Given the description of an element on the screen output the (x, y) to click on. 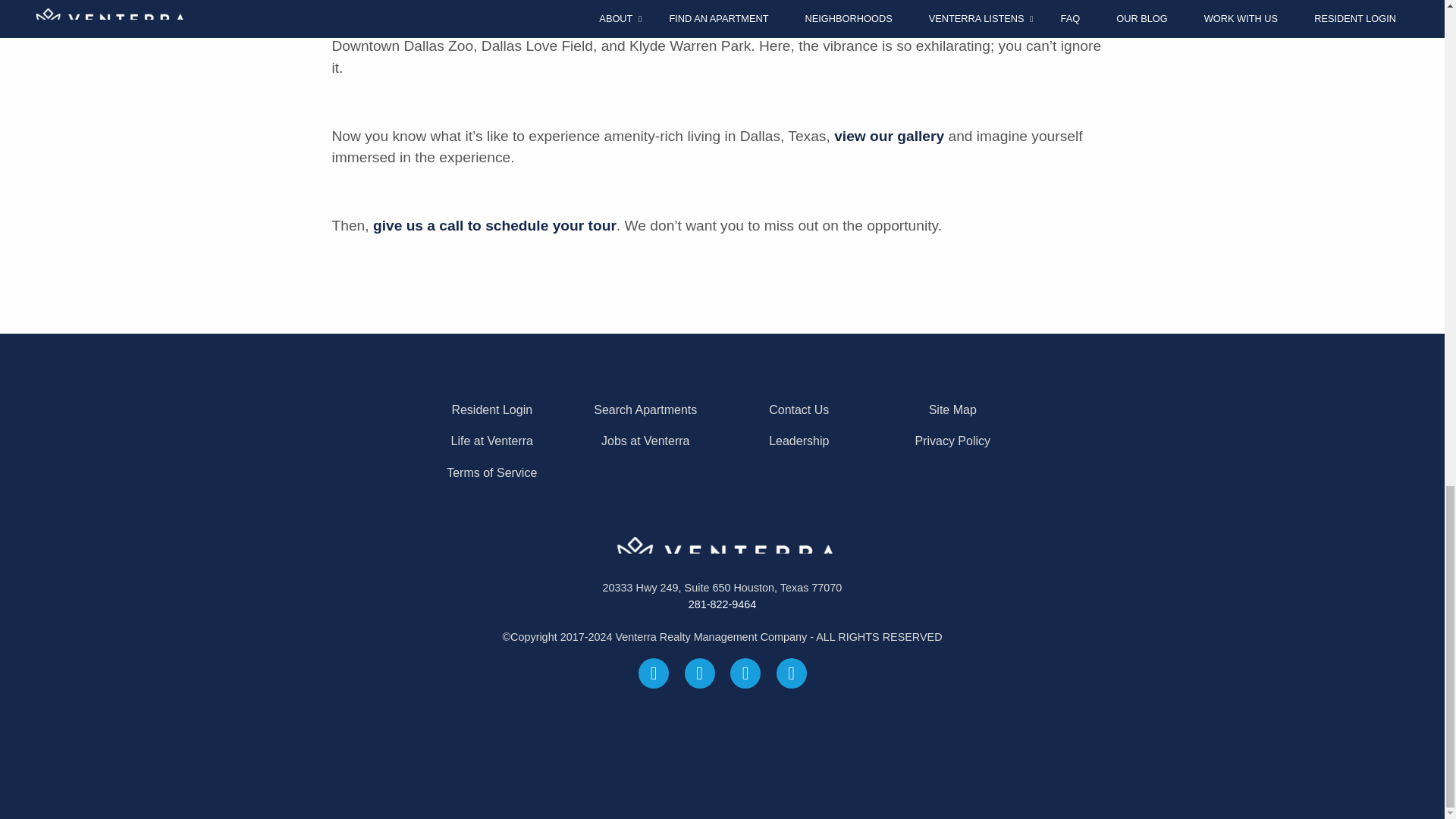
view our gallery (888, 135)
give us a call to schedule your tour (493, 225)
Resident Login (491, 409)
Search Apartments (645, 409)
